Given the description of an element on the screen output the (x, y) to click on. 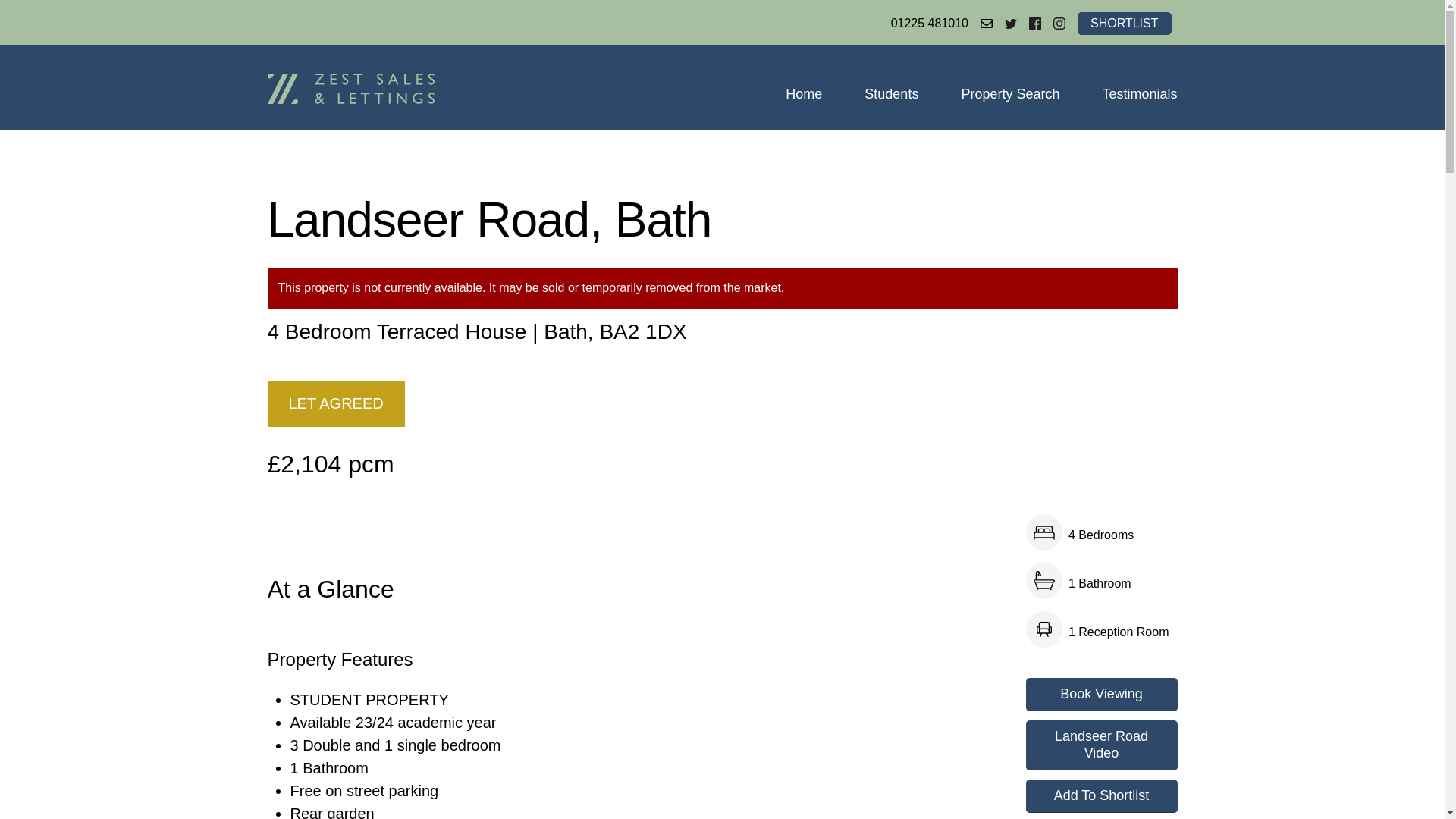
Home (804, 93)
Students (891, 93)
Add To Shortlist (1100, 796)
Testimonials (1139, 93)
SHORTLIST (1124, 23)
01225 481010 (929, 24)
Property Search (1009, 93)
Book Viewing (1100, 694)
Landseer Road Video (1100, 744)
